Given the description of an element on the screen output the (x, y) to click on. 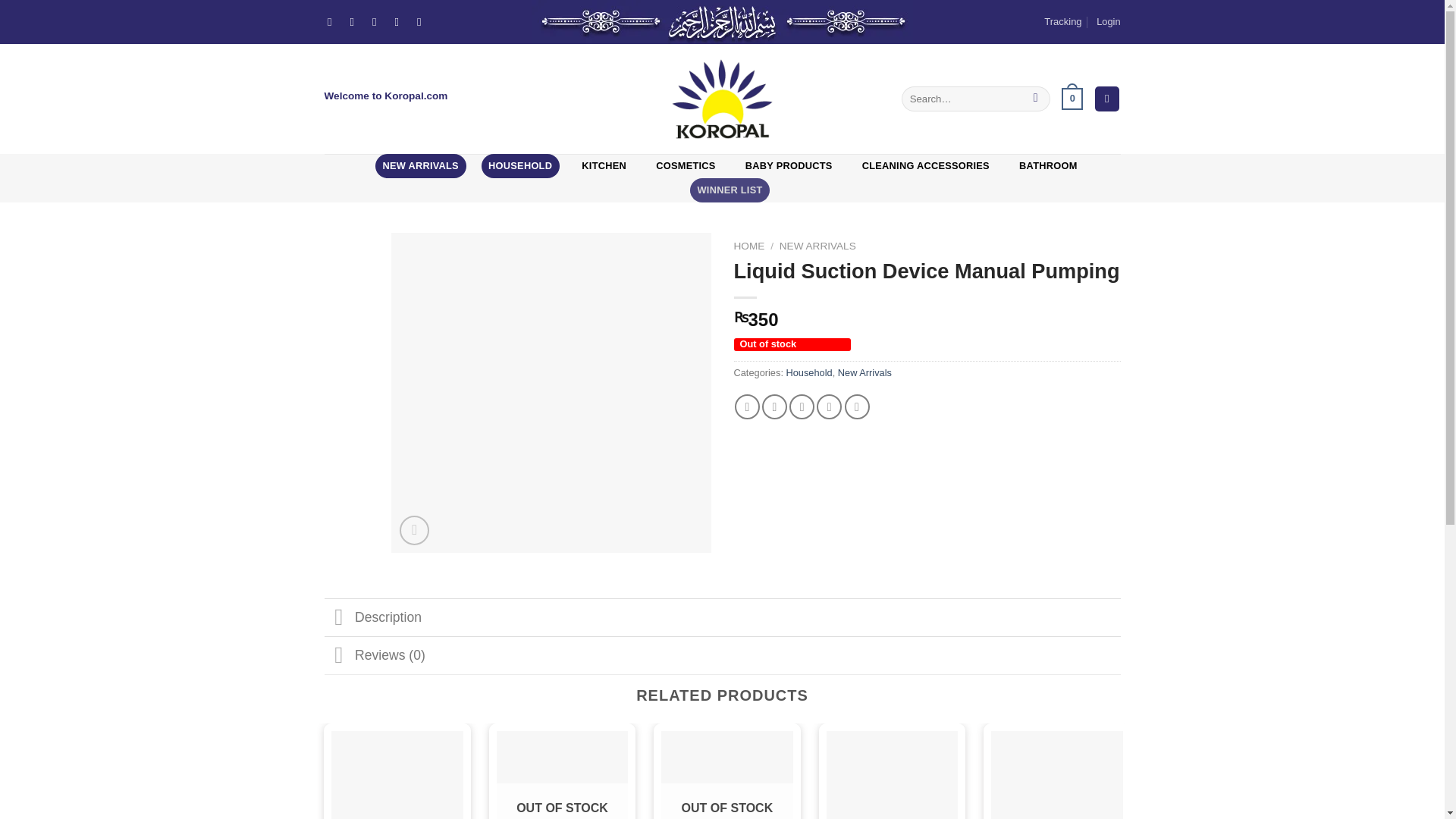
NEW ARRIVALS (420, 165)
Follow on Facebook (333, 21)
0 (1072, 98)
Cart (1072, 98)
HOME (749, 245)
koropal - Home Appliances Kitchen and Household (721, 98)
CLEANING ACCESSORIES (924, 165)
Welcome to Koropal.com (386, 95)
Follow on Instagram (355, 21)
Follow on Telegram (422, 21)
COSMETICS (686, 165)
WINNER LIST (730, 190)
Tracking (1062, 21)
Follow on YouTube (400, 21)
Login (1107, 21)
